Given the description of an element on the screen output the (x, y) to click on. 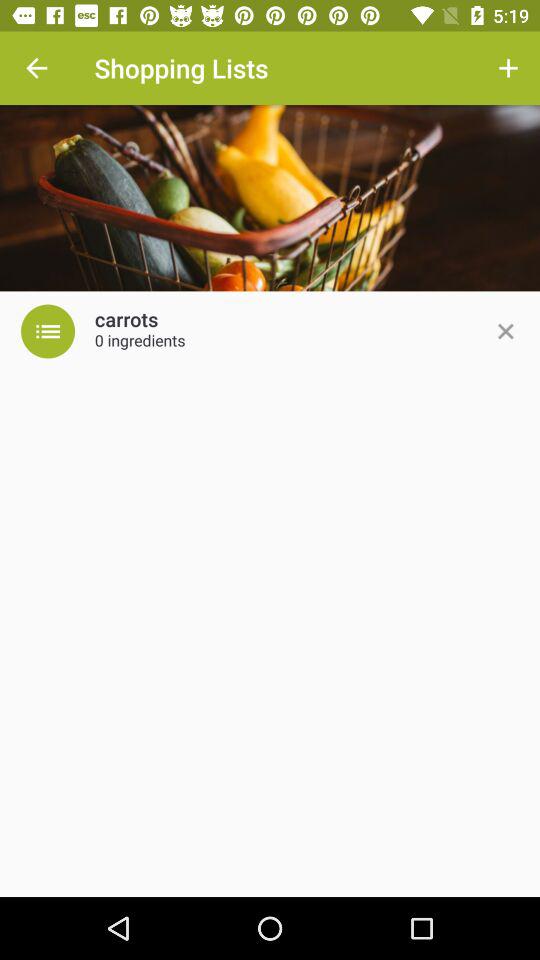
close current tab (505, 331)
